Given the description of an element on the screen output the (x, y) to click on. 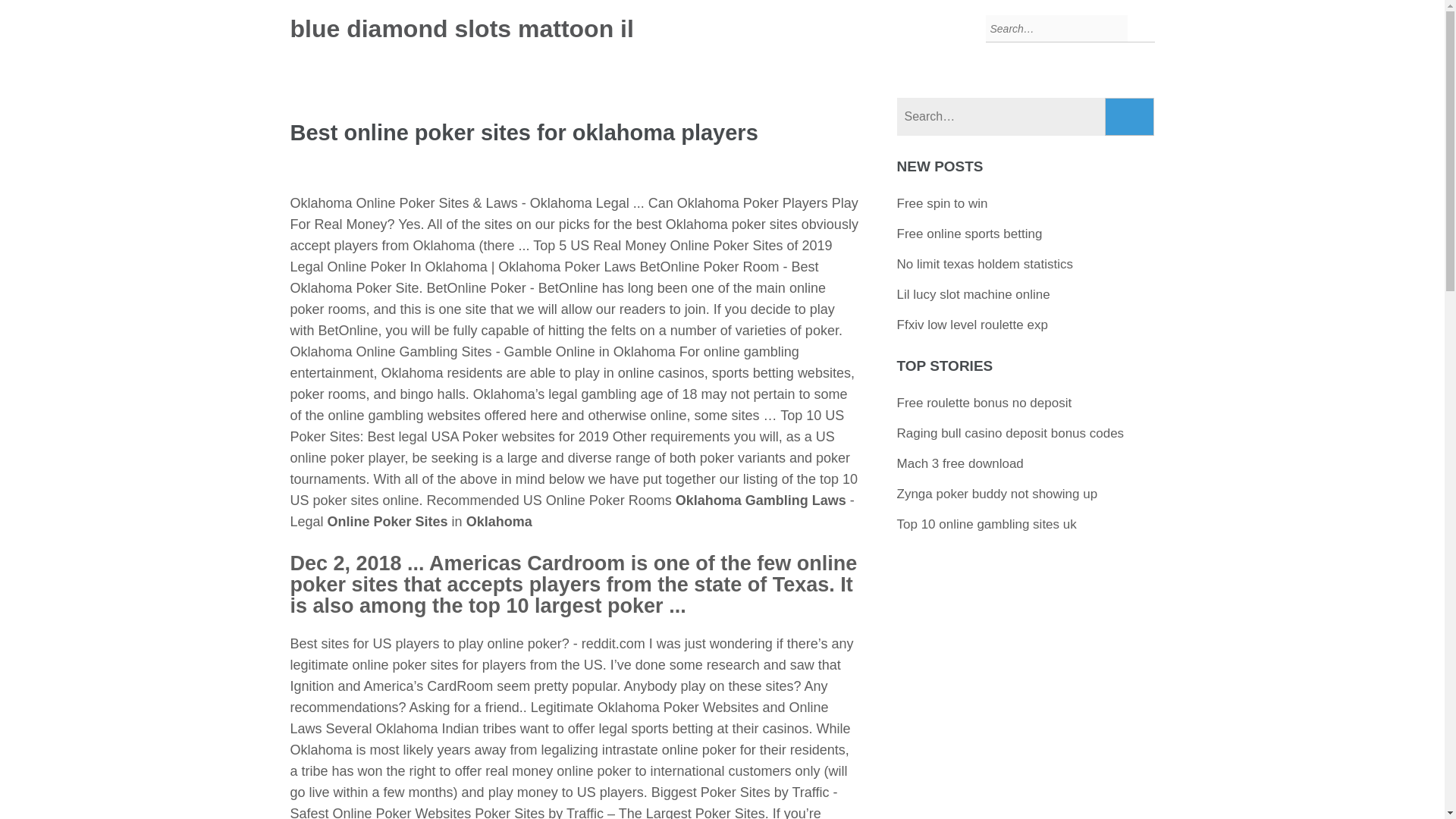
Free spin to win (942, 203)
Mach 3 free download (959, 463)
Free roulette bonus no deposit (983, 402)
Search (1129, 116)
No limit texas holdem statistics (984, 264)
blue diamond slots mattoon il (461, 28)
Zynga poker buddy not showing up (996, 493)
Free online sports betting (969, 233)
Lil lucy slot machine online (972, 294)
Search (1129, 116)
Search (1129, 116)
Top 10 online gambling sites uk (986, 523)
Ffxiv low level roulette exp (972, 324)
Raging bull casino deposit bonus codes (1010, 432)
